Given the description of an element on the screen output the (x, y) to click on. 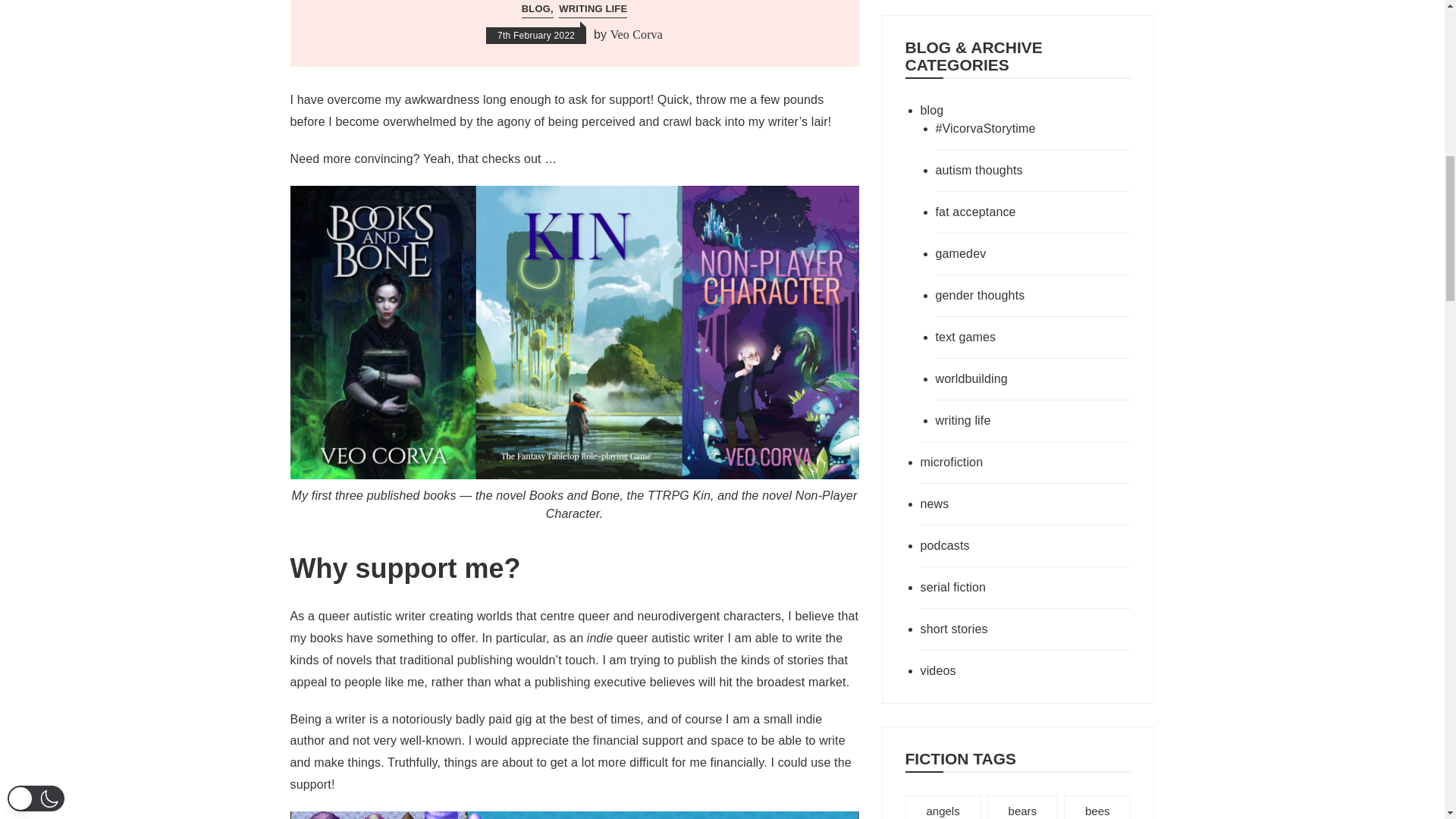
Veo Corva (636, 34)
blog (1004, 110)
WRITING LIFE (593, 9)
BLOG (537, 9)
autism thoughts (1014, 170)
7th February 2022 (536, 35)
